Given the description of an element on the screen output the (x, y) to click on. 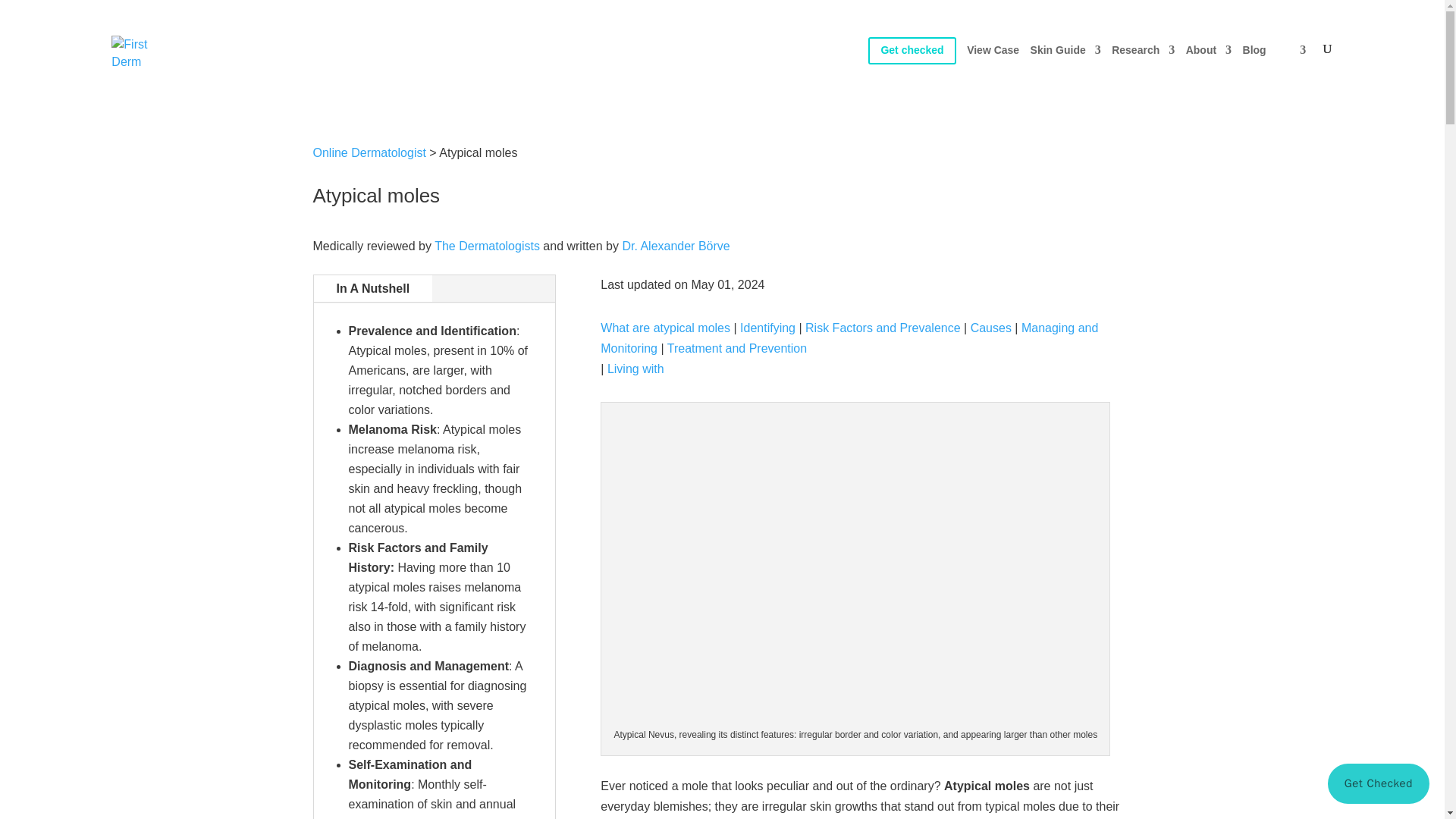
Identifying (766, 327)
The Dermatologists (486, 245)
Research (1143, 68)
Risk Factors and Prevalence (882, 327)
Skin Guide (1065, 68)
Get checked (911, 68)
View Case (992, 68)
In A Nutshell (373, 288)
What are atypical moles (664, 327)
About (1208, 68)
